Given the description of an element on the screen output the (x, y) to click on. 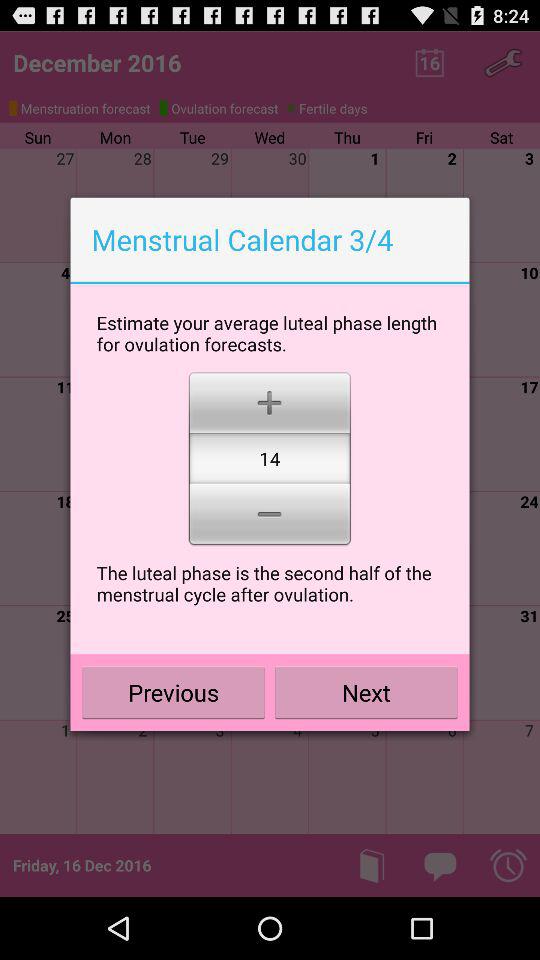
click the icon to the left of next icon (173, 692)
